Given the description of an element on the screen output the (x, y) to click on. 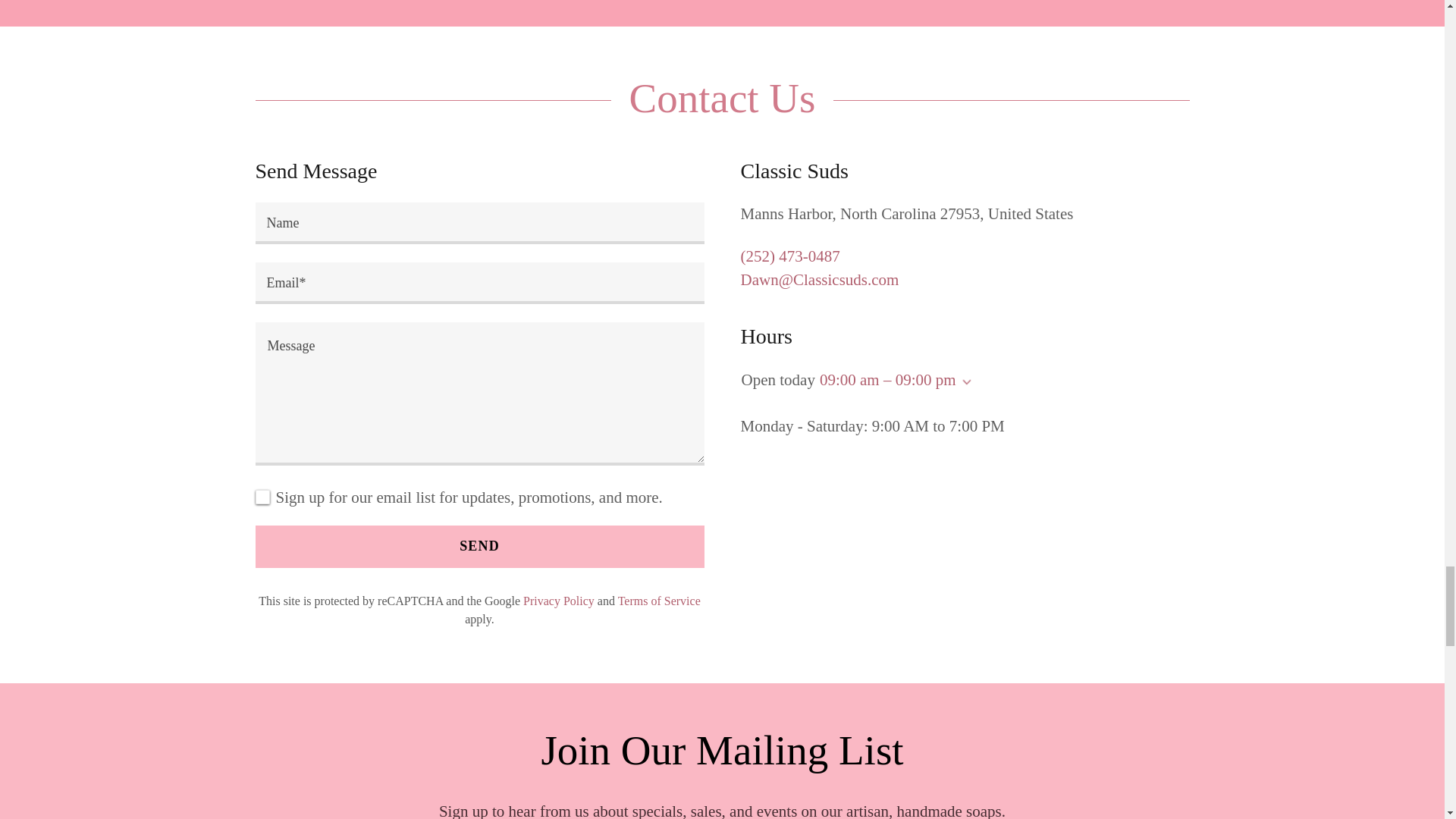
Terms of Service (658, 600)
Privacy Policy (558, 600)
SEND (478, 546)
